Given the description of an element on the screen output the (x, y) to click on. 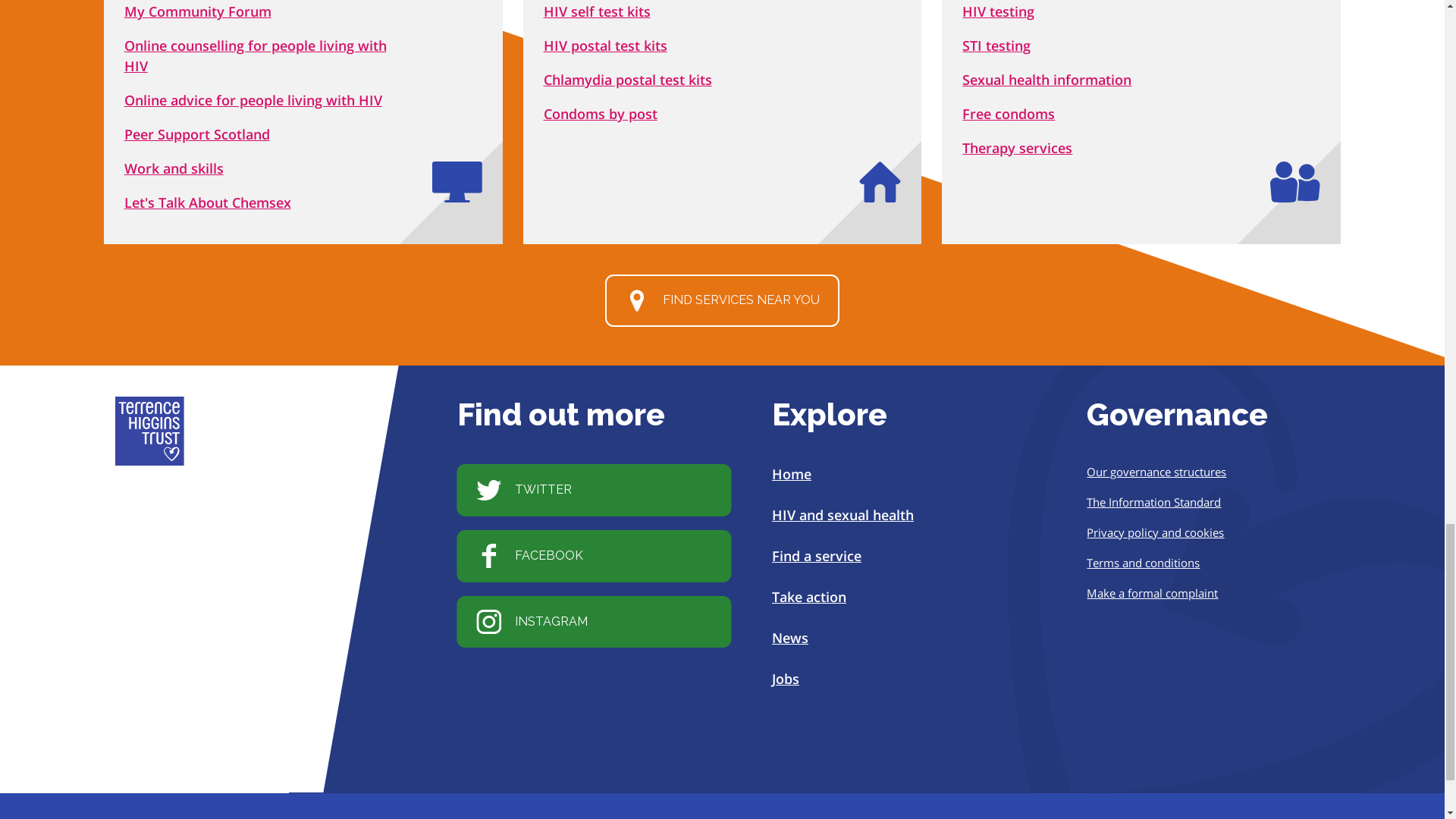
HIV self test kits (596, 11)
STI testing (996, 45)
FACEBOOK (593, 555)
Sexual health information (1046, 79)
Work and skills (173, 167)
Online counselling for people living with HIV (255, 55)
INSTAGRAM (593, 621)
Online group for gay and bisexual men living with HIV (207, 202)
Our peer support forum for people living with HIV (196, 11)
Home (790, 474)
Let's Talk About Chemsex (207, 202)
HIV postal test kits (604, 45)
Online advice for people living with HIV (252, 99)
Free condoms (1008, 113)
HIV and sexual health (842, 515)
